Given the description of an element on the screen output the (x, y) to click on. 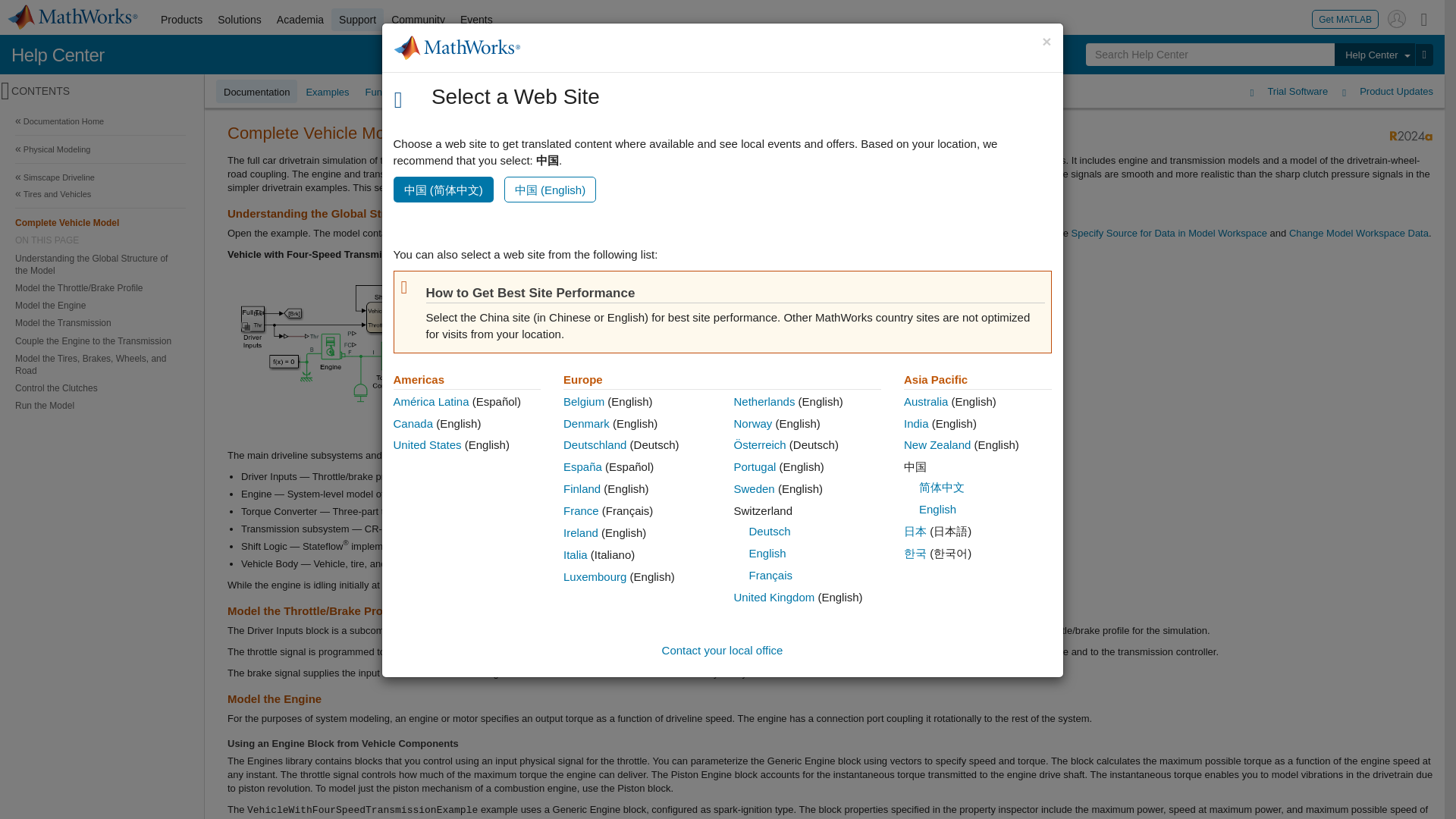
Community (418, 19)
Solutions (239, 19)
Sign In to Your MathWorks Account (1396, 18)
Academia (300, 19)
Support (357, 19)
Complete Vehicle Model (100, 221)
Get MATLAB (1344, 18)
Products (180, 19)
Matrix Menu (1423, 18)
ON THIS PAGE (100, 240)
Events (476, 19)
